Given the description of an element on the screen output the (x, y) to click on. 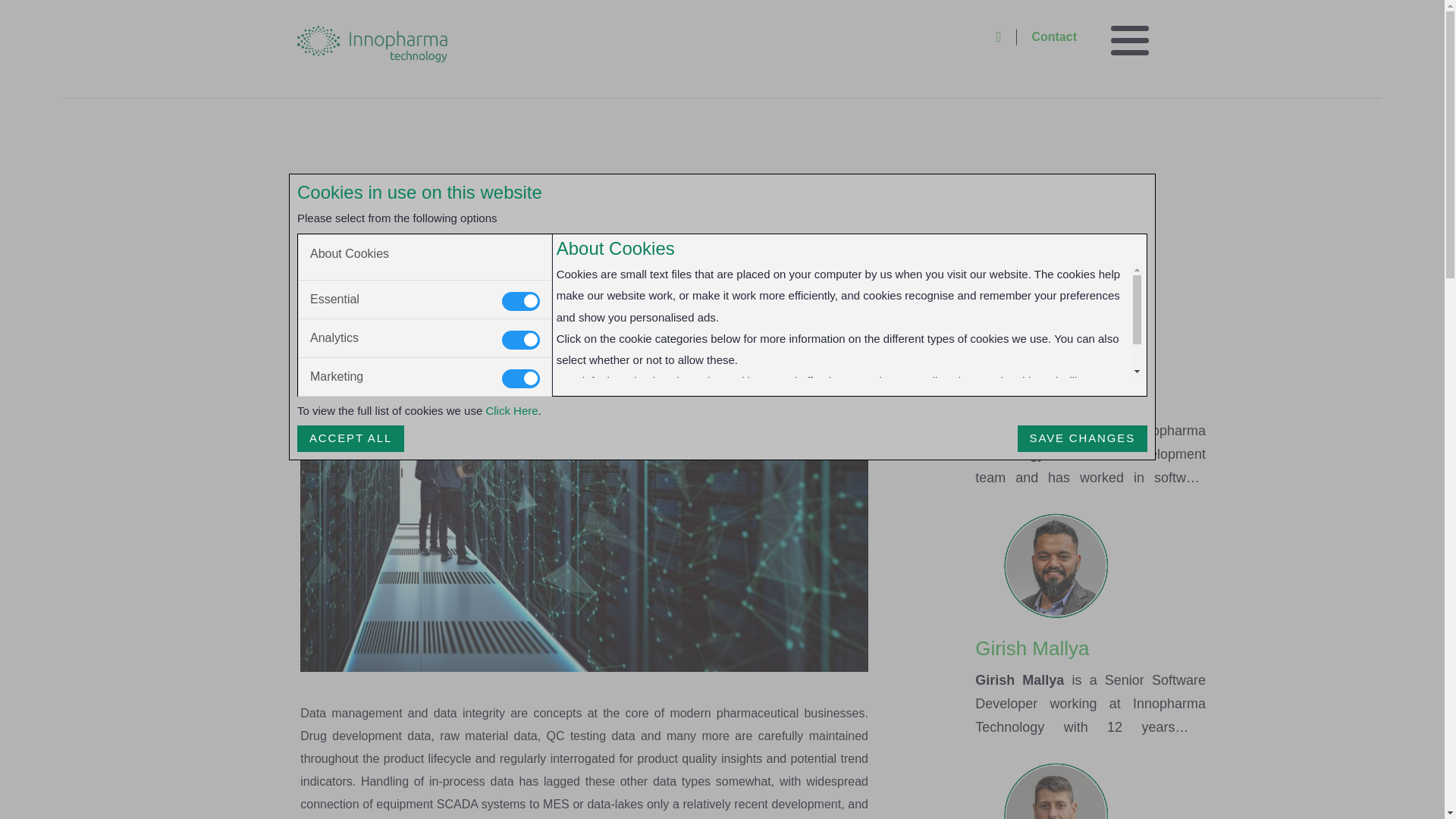
Industry 4.0 news and blogs from Innopharma Technology. (381, 205)
Contact (1053, 36)
Accept All (350, 438)
Save Changes (1082, 438)
InnoTechLogoDark (372, 43)
